Given the description of an element on the screen output the (x, y) to click on. 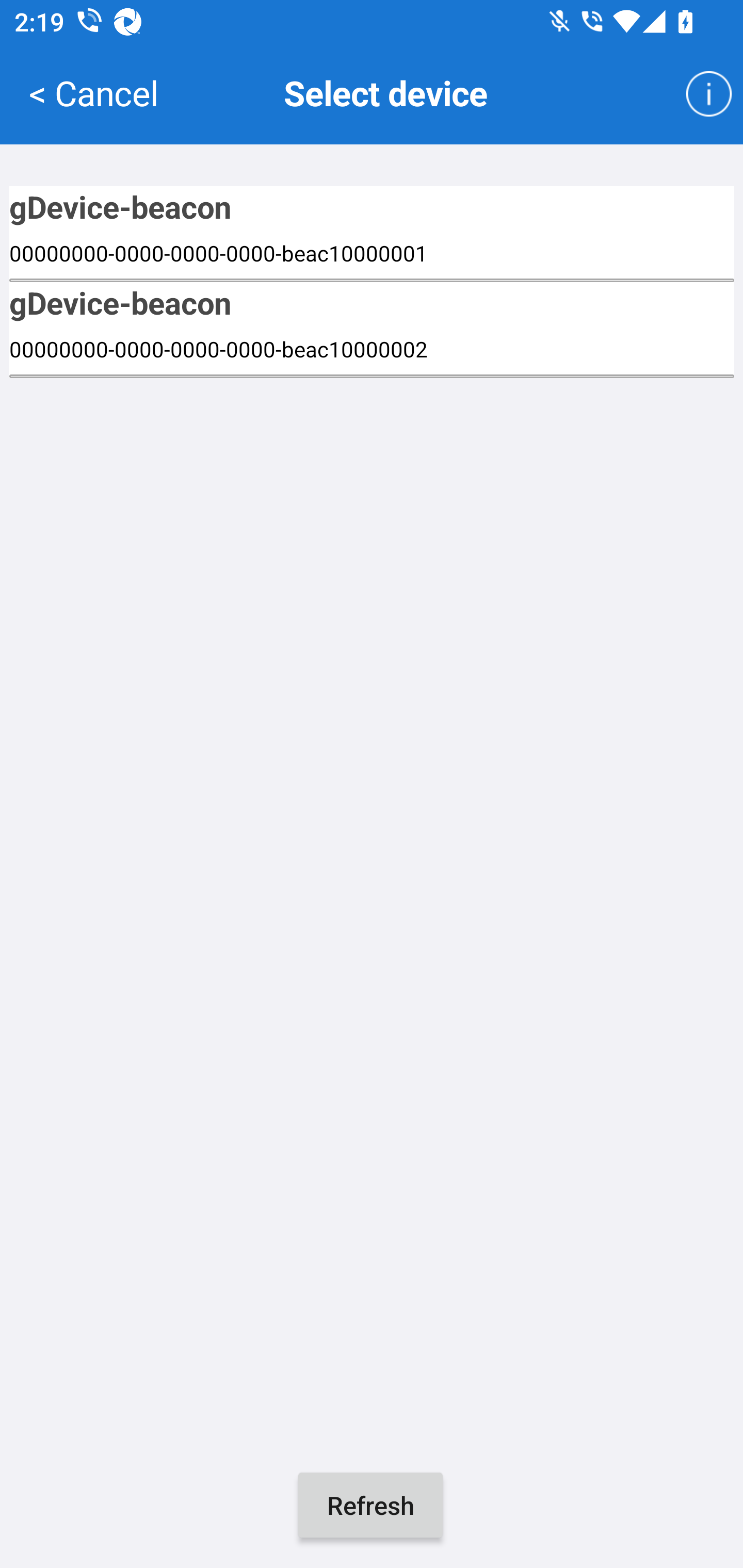
< Cancel (93, 92)
Refresh (370, 1505)
